Given the description of an element on the screen output the (x, y) to click on. 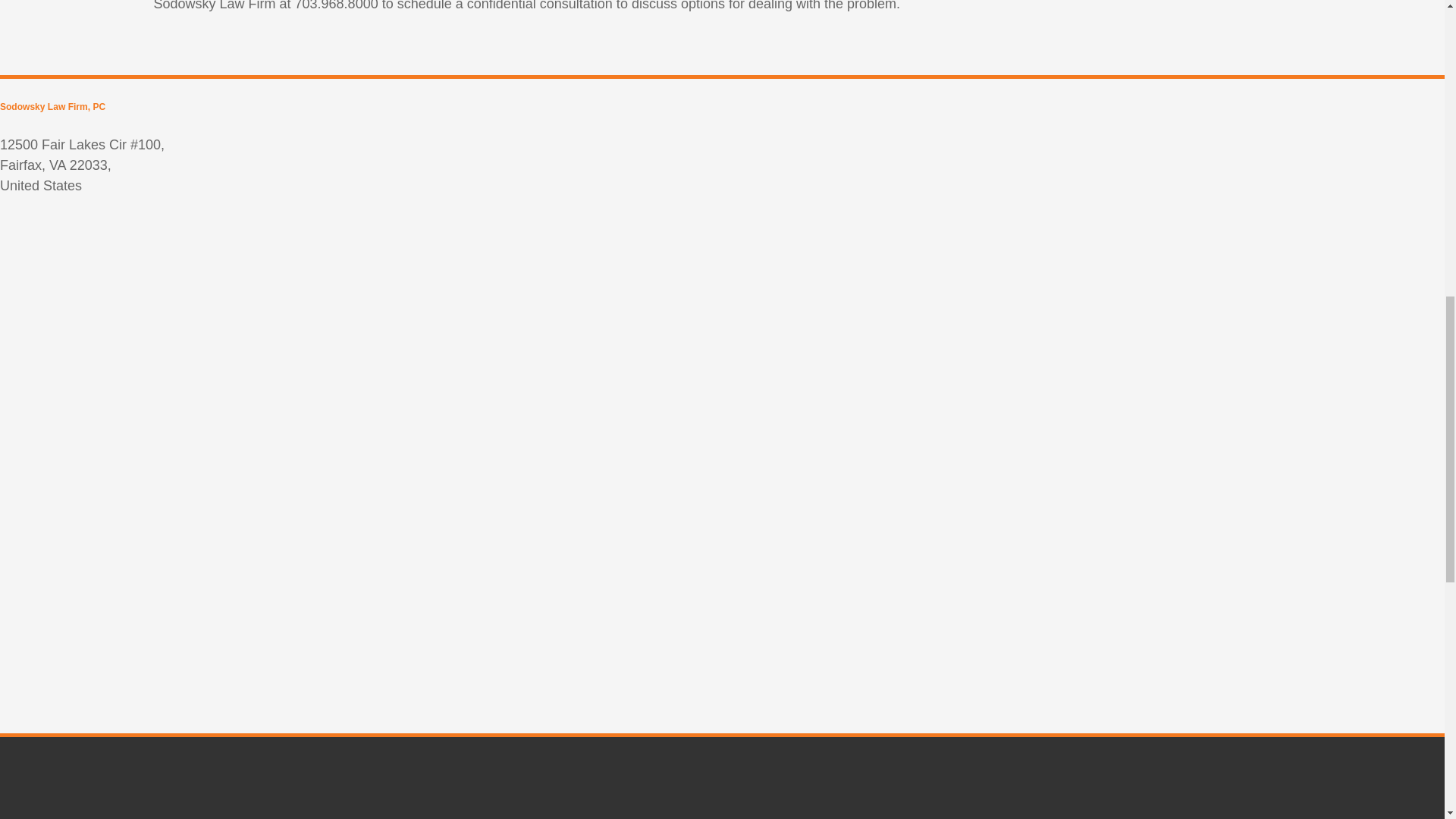
Sodowsky Law Firm, PC (52, 106)
